Given the description of an element on the screen output the (x, y) to click on. 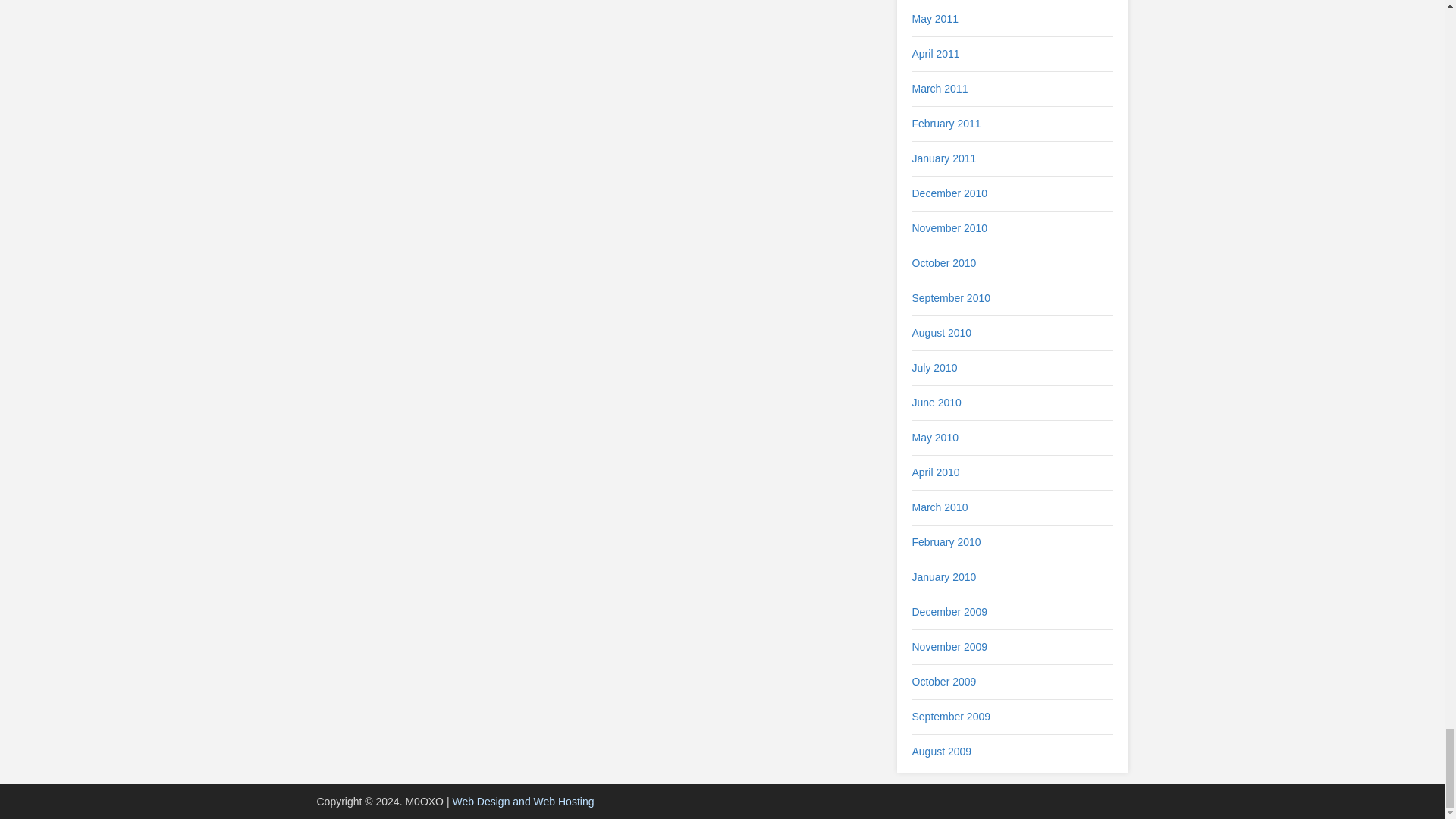
BarclayJames Web Design (522, 801)
